Given the description of an element on the screen output the (x, y) to click on. 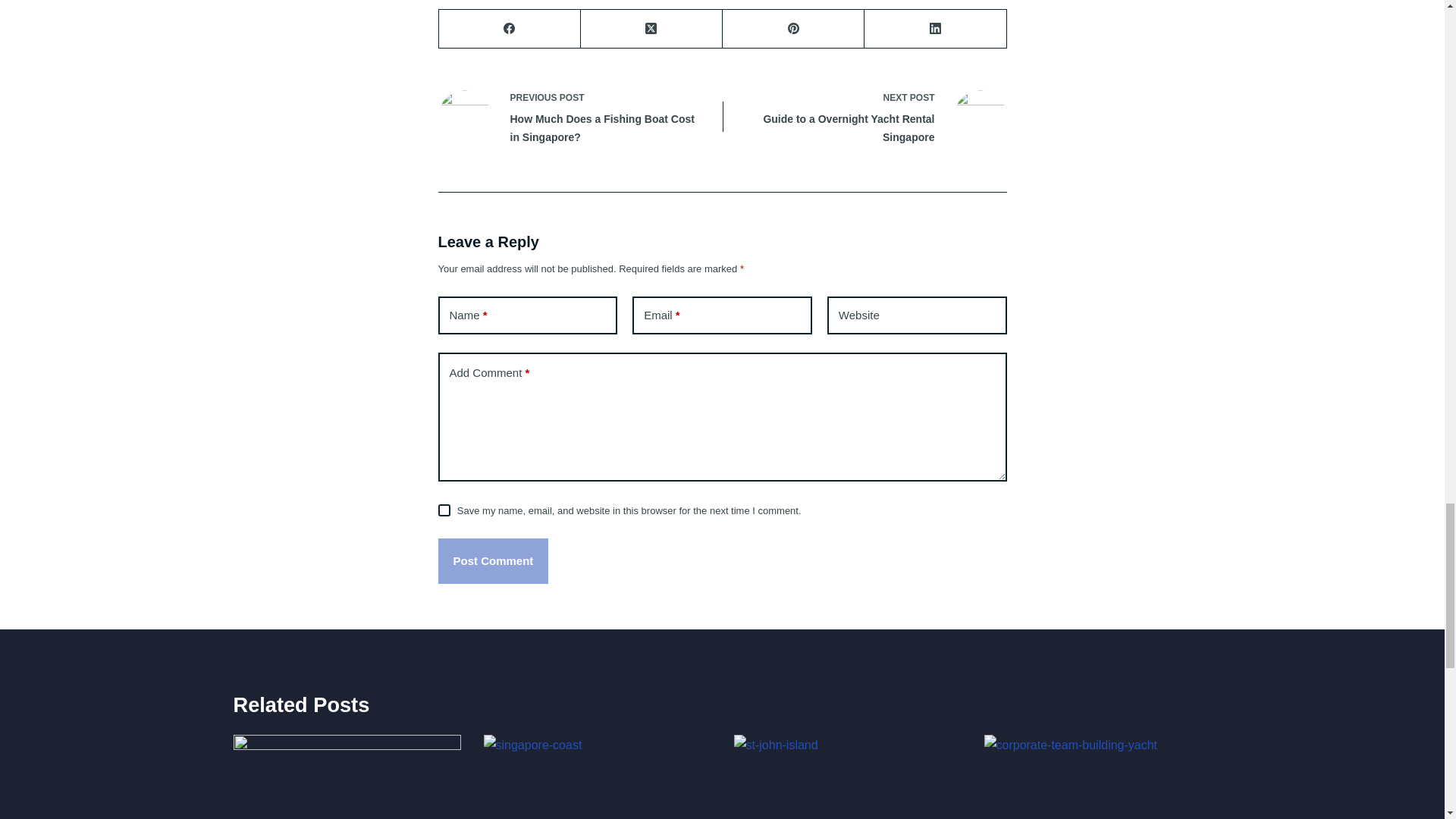
yes (443, 510)
